Given the description of an element on the screen output the (x, y) to click on. 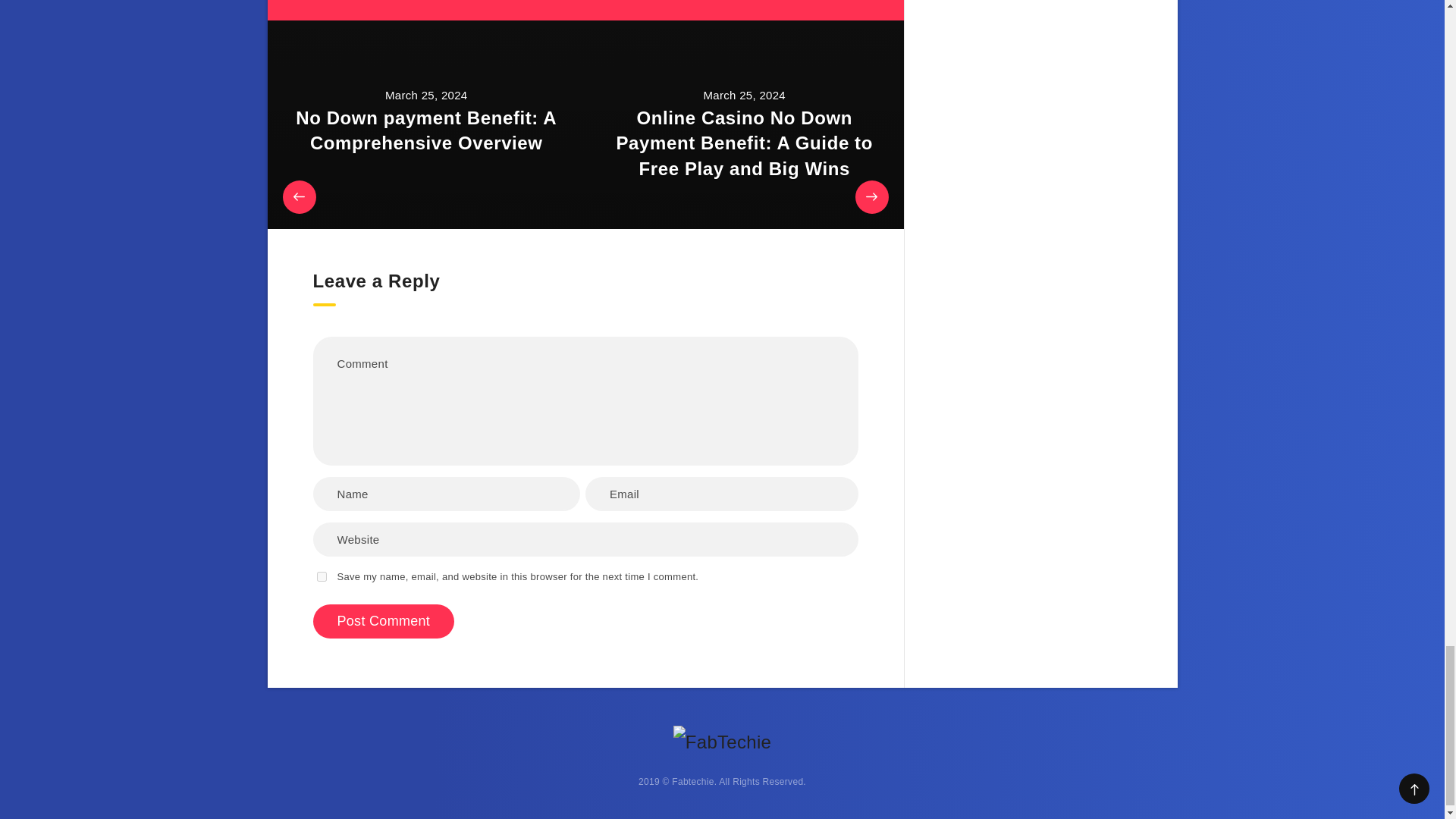
Post Comment (383, 621)
yes (321, 576)
Post Comment (383, 621)
